Given the description of an element on the screen output the (x, y) to click on. 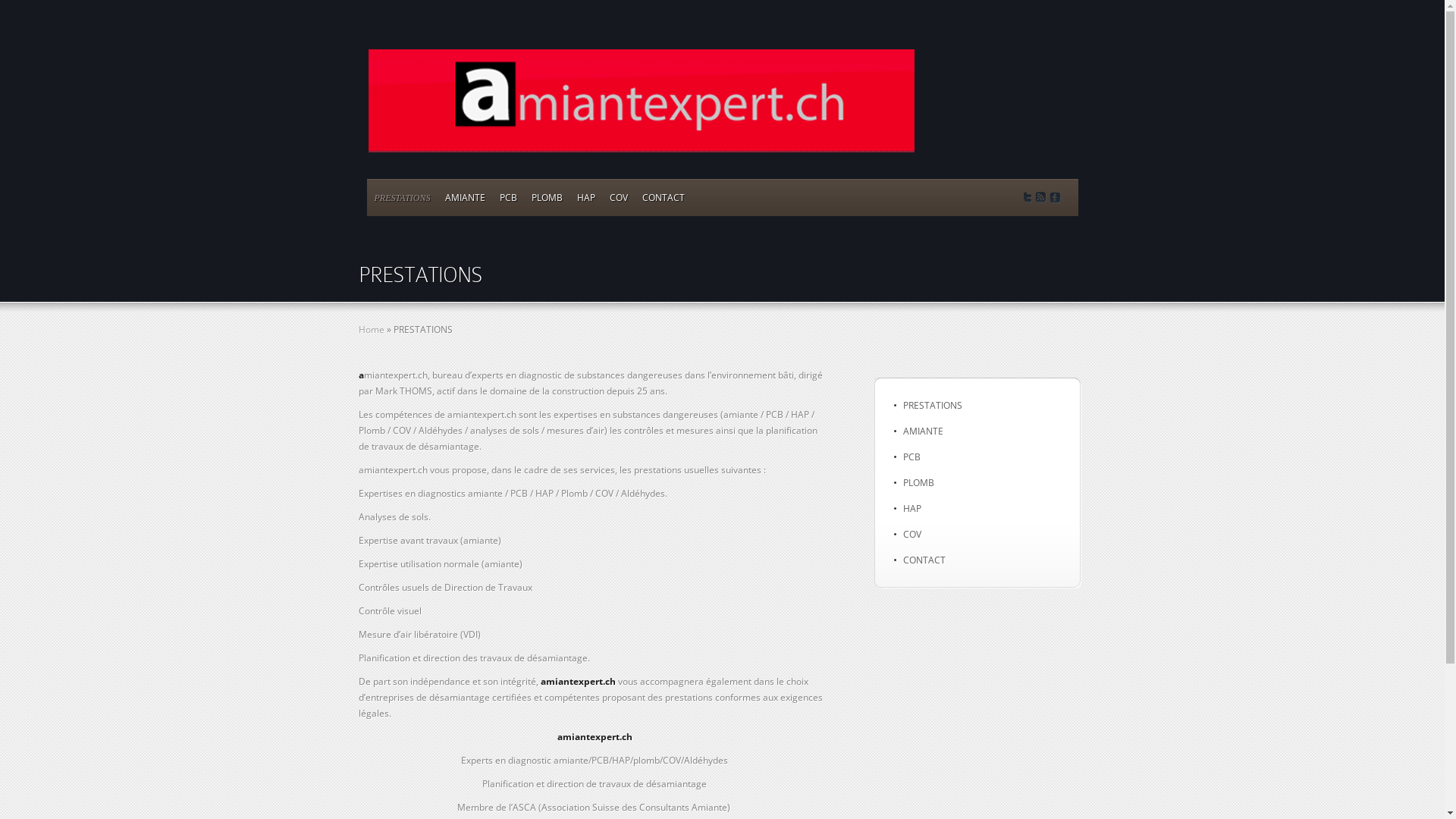
PCB Element type: text (910, 456)
PRESTATIONS Element type: text (402, 197)
PLOMB Element type: text (545, 197)
COV Element type: text (618, 197)
CONTACT Element type: text (923, 559)
CONTACT Element type: text (662, 197)
Home Element type: text (370, 329)
AMIANTE Element type: text (464, 197)
PCB Element type: text (507, 197)
PLOMB Element type: text (917, 482)
PRESTATIONS Element type: text (931, 404)
AMIANTE Element type: text (922, 430)
HAP Element type: text (911, 508)
COV Element type: text (911, 533)
HAP Element type: text (585, 197)
